Given the description of an element on the screen output the (x, y) to click on. 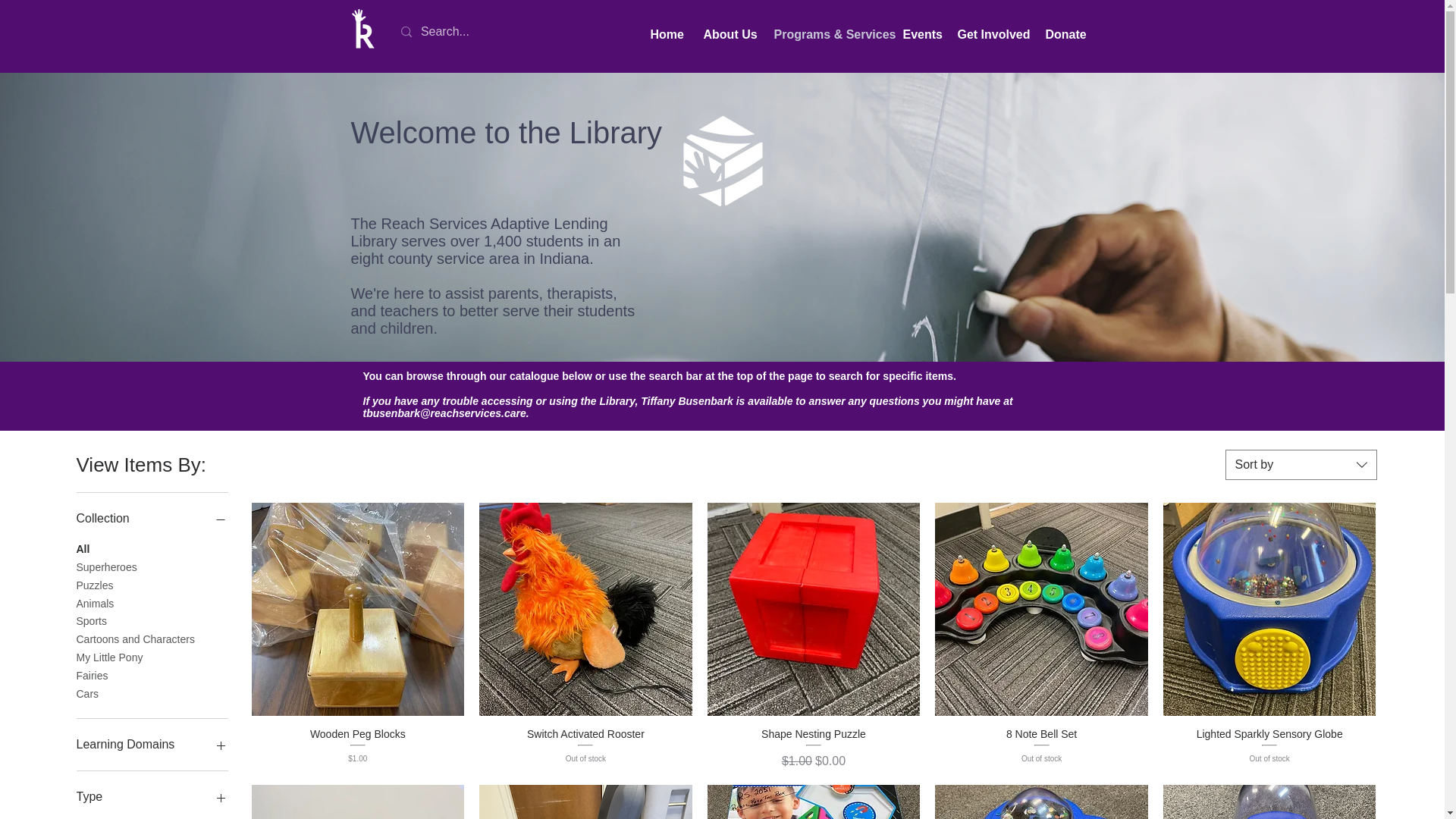
Get Involved (989, 34)
Events (918, 34)
Learning Domains (151, 744)
Sort by (1301, 464)
Home (665, 34)
Collection (151, 518)
About Us (726, 34)
Type (151, 796)
